Given the description of an element on the screen output the (x, y) to click on. 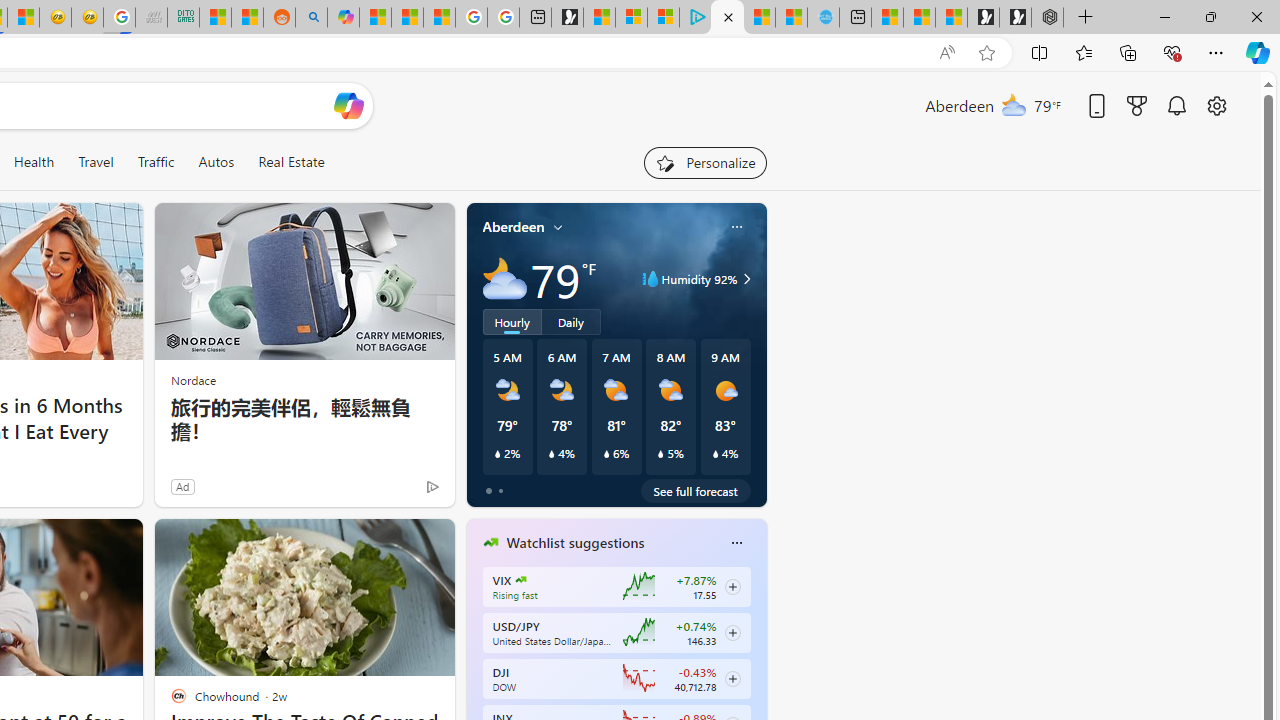
Watchlist suggestions (575, 543)
CBOE Market Volatility Index (520, 579)
Personalize your feed" (704, 162)
Utah sues federal government - Search (310, 17)
Autos (216, 162)
